Given the description of an element on the screen output the (x, y) to click on. 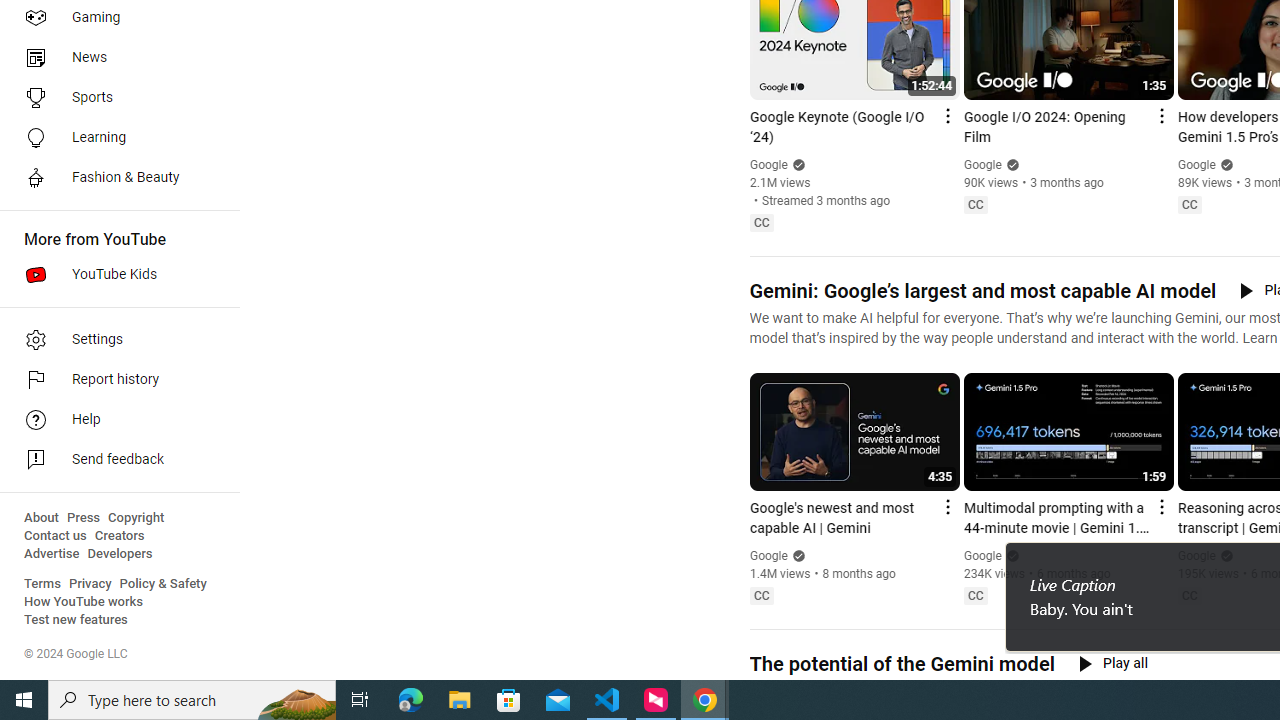
How YouTube works (83, 602)
Send feedback (113, 459)
Policy & Safety (163, 584)
Developers (120, 554)
Report history (113, 380)
Press (83, 518)
Action menu (1160, 506)
About (41, 518)
Fashion & Beauty (113, 177)
Advertise (51, 554)
